Given the description of an element on the screen output the (x, y) to click on. 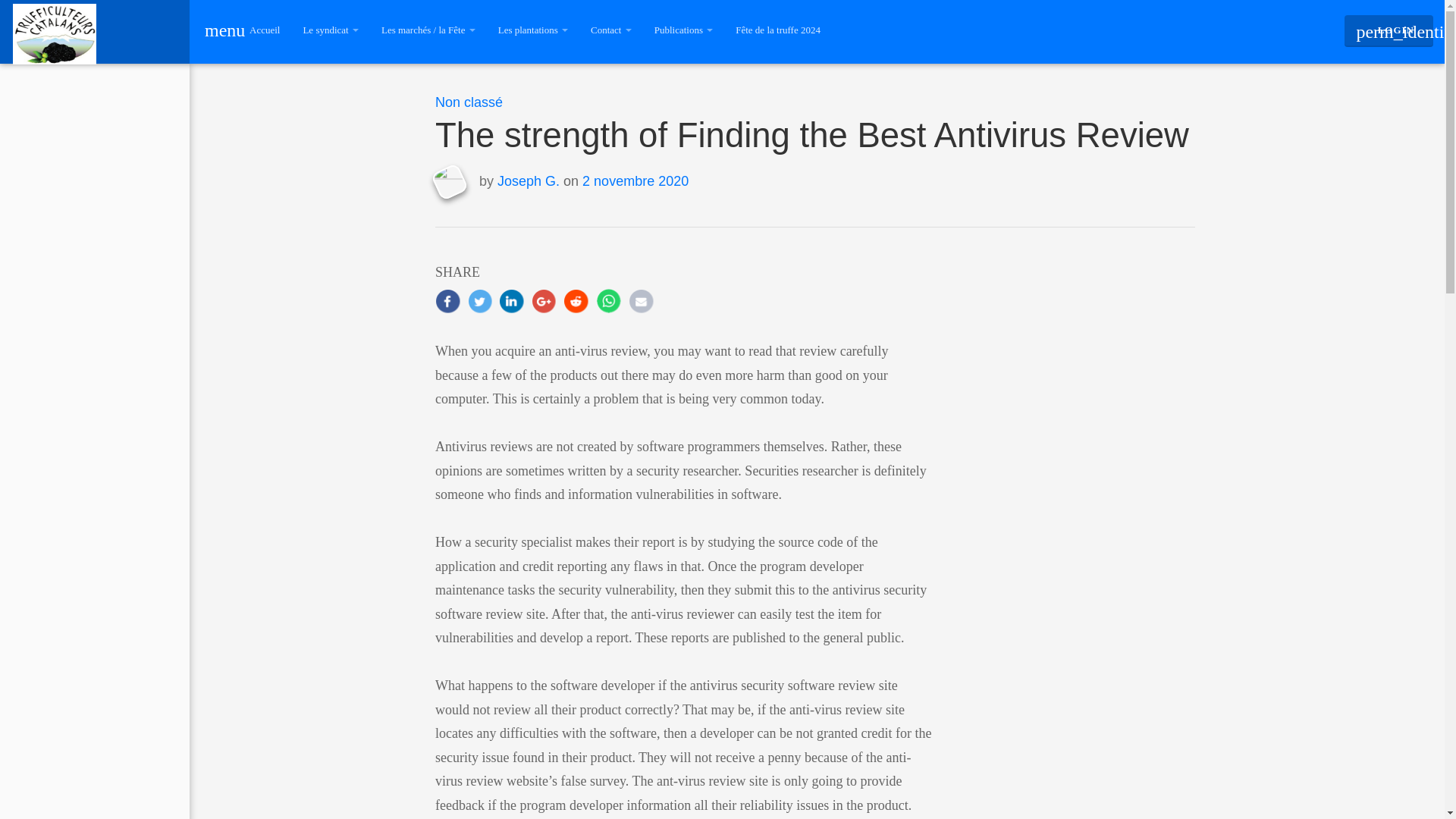
Publications (684, 29)
menu (213, 30)
Contact (611, 29)
Le syndicat (330, 29)
Le syndicat (330, 29)
Les plantations (532, 29)
Les plantations (532, 29)
